Given the description of an element on the screen output the (x, y) to click on. 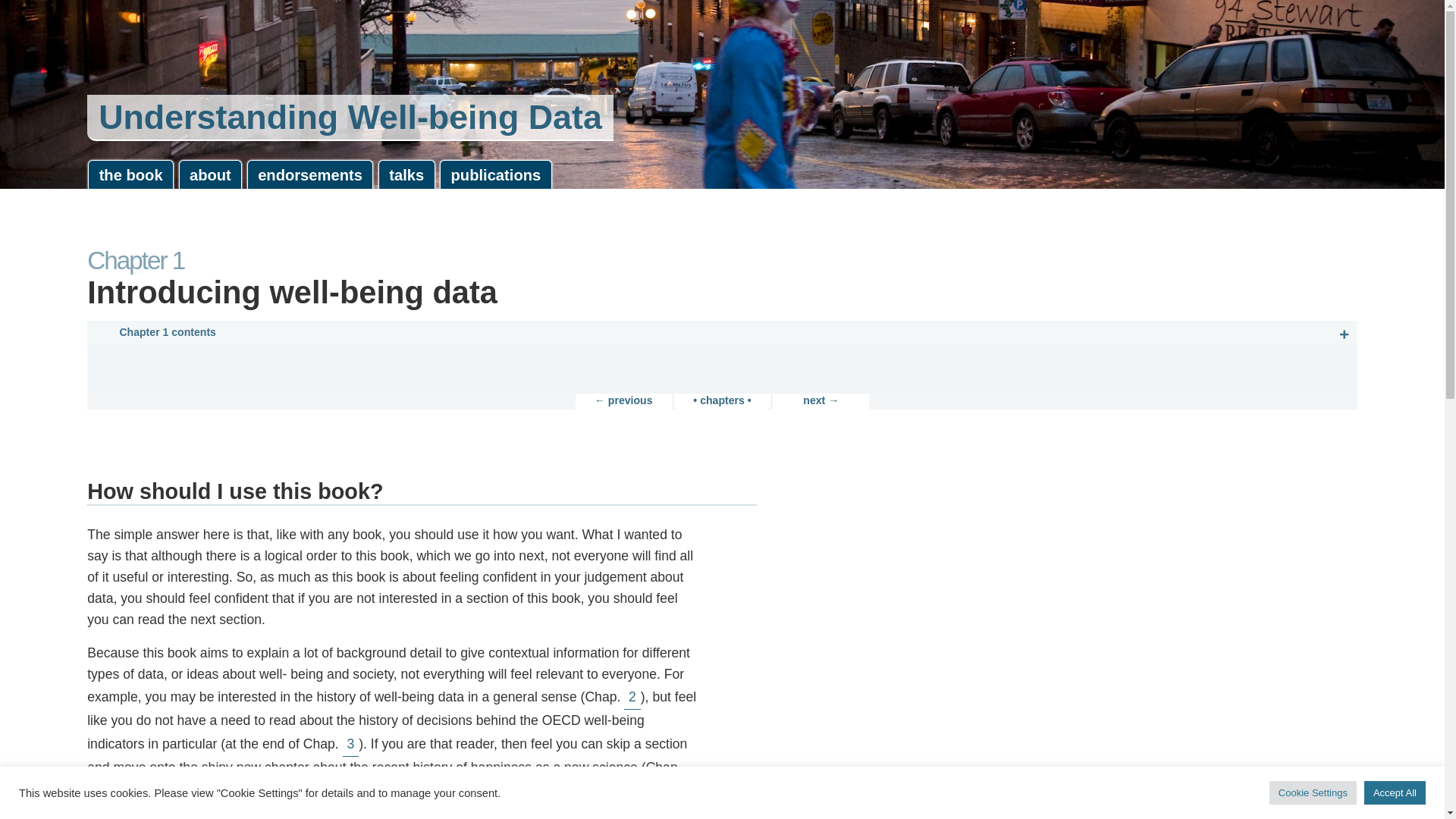
5 (234, 790)
Understanding Well-being Data (349, 117)
2 (632, 697)
4 (95, 790)
about (211, 174)
3 (350, 744)
endorsements (310, 174)
publications (495, 174)
the book (130, 174)
talks (406, 174)
